Given the description of an element on the screen output the (x, y) to click on. 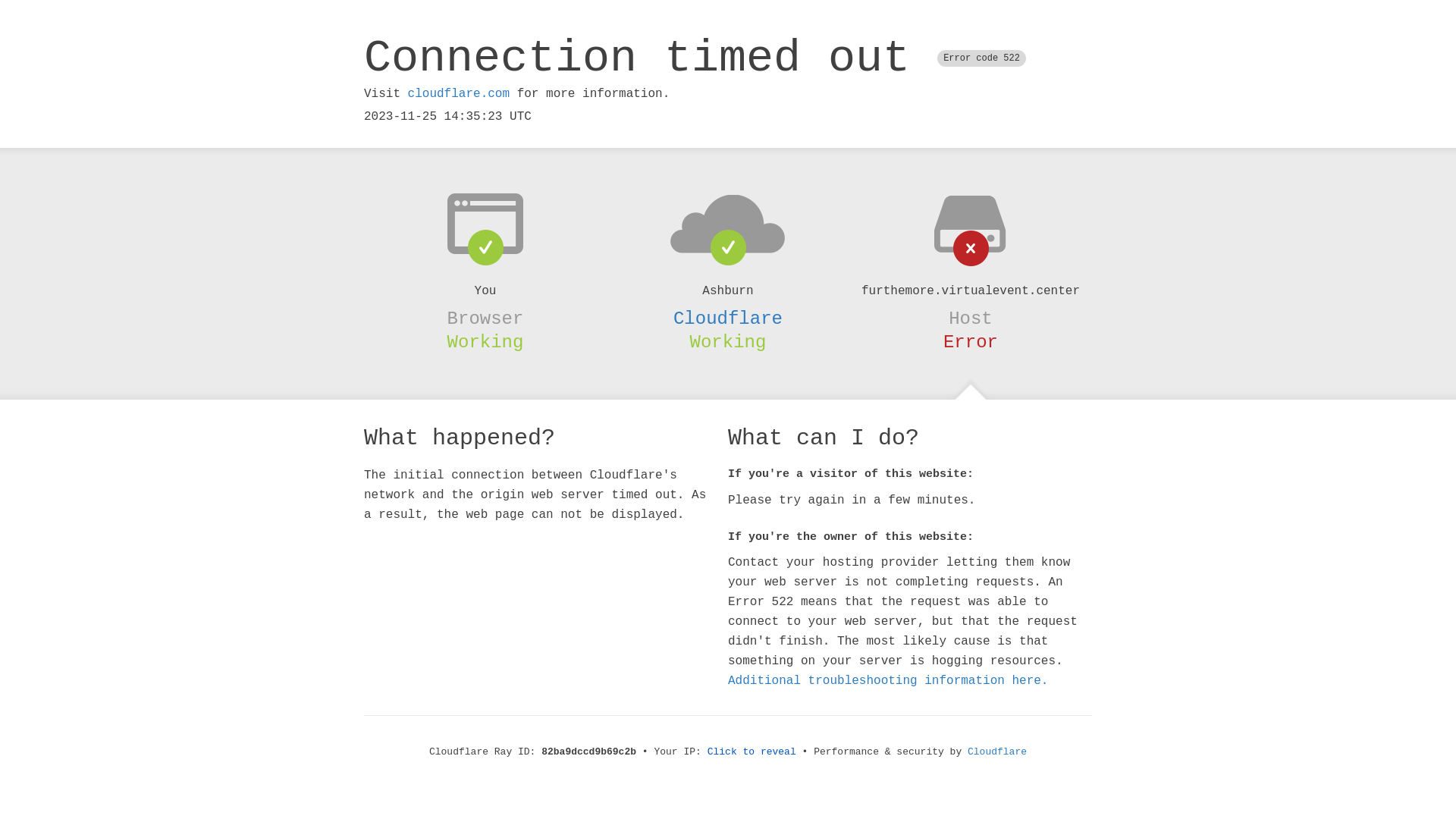
Additional troubleshooting information here. Element type: text (888, 680)
Cloudflare Element type: text (996, 751)
Click to reveal Element type: text (751, 751)
cloudflare.com Element type: text (458, 93)
Cloudflare Element type: text (727, 318)
